Given the description of an element on the screen output the (x, y) to click on. 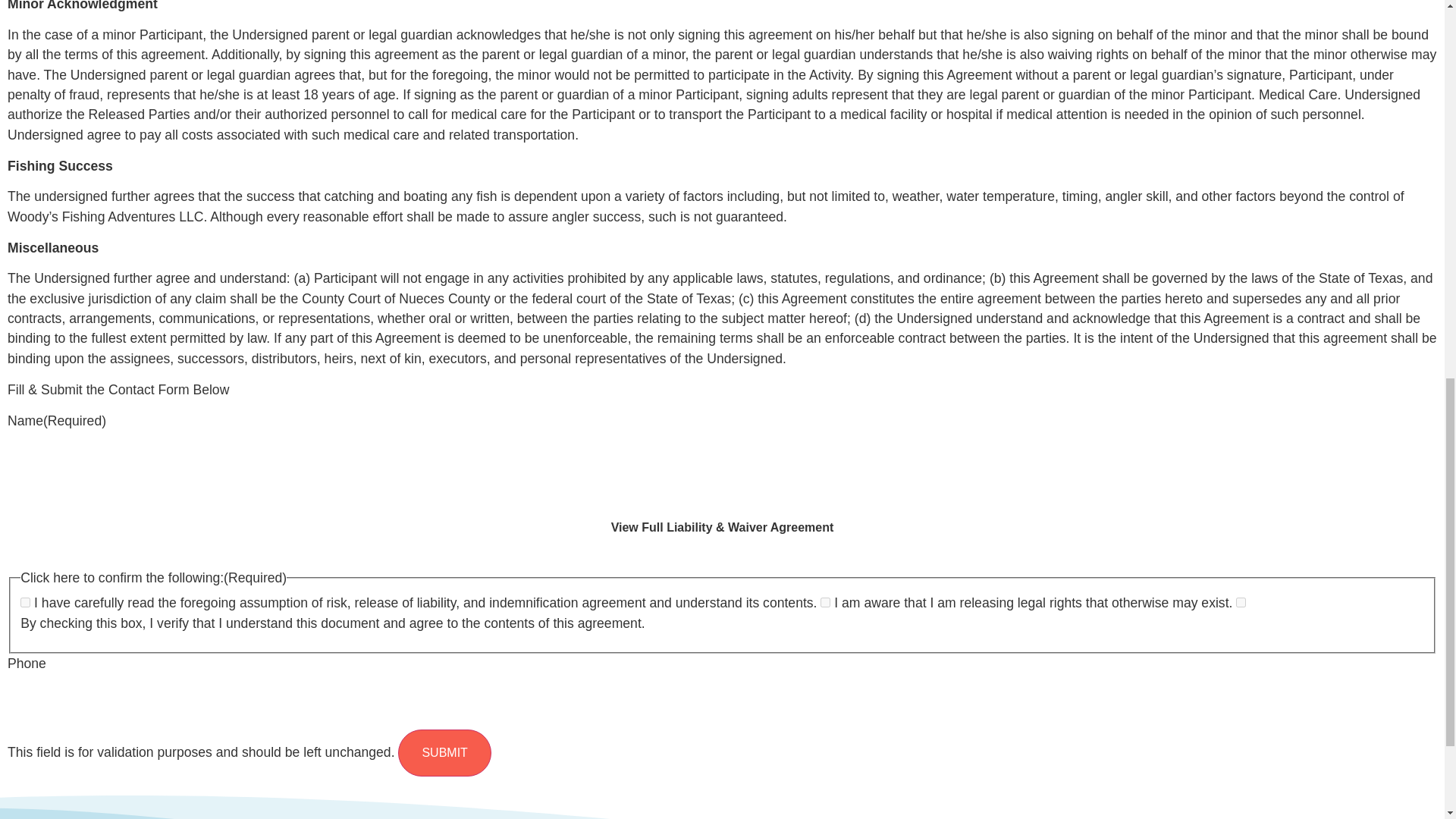
Submit (443, 752)
Submit (443, 752)
